Given the description of an element on the screen output the (x, y) to click on. 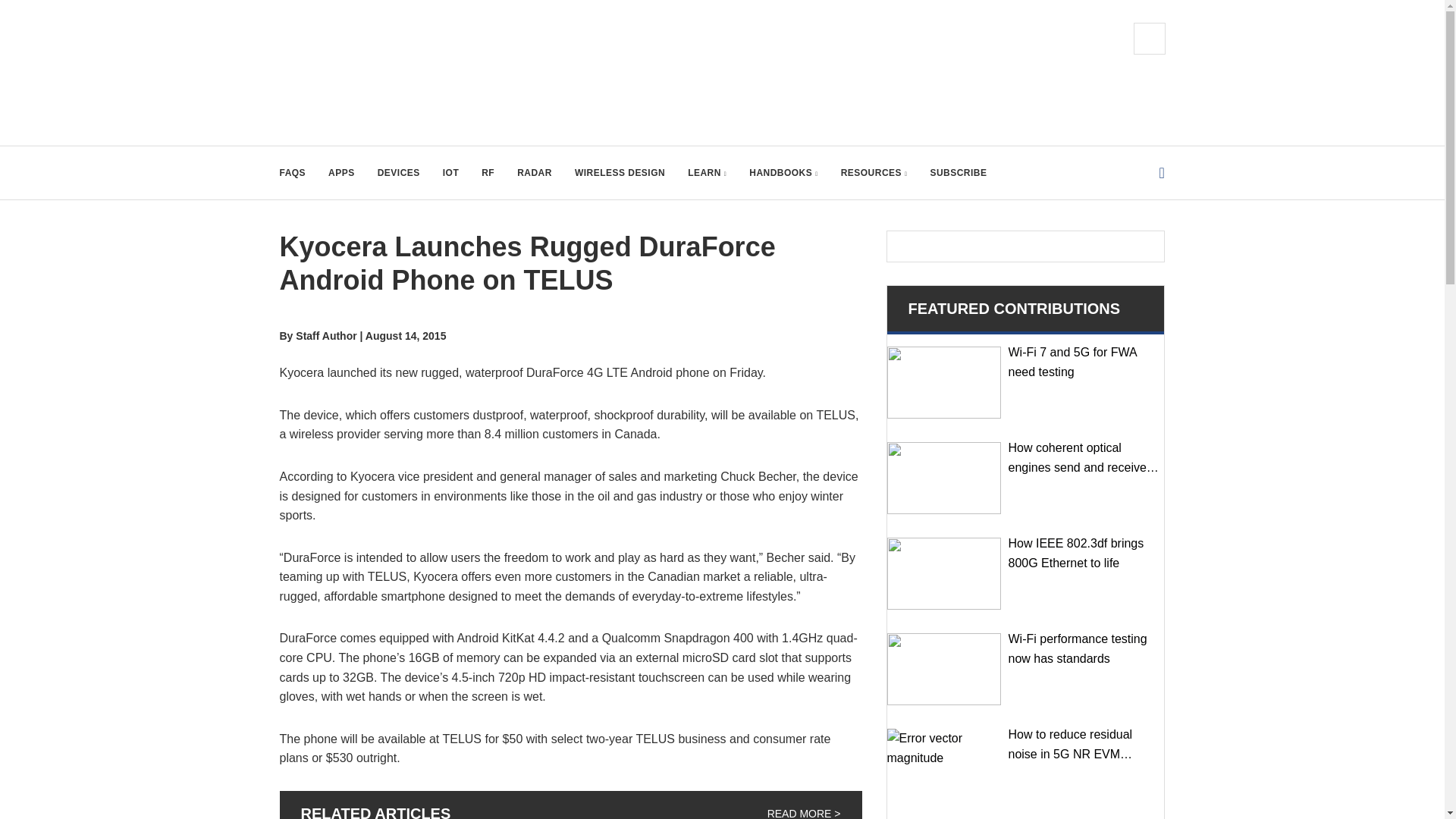
Staff Author (325, 336)
How coherent optical engines send and receive network data (943, 478)
SUBSCRIBE (958, 172)
Wi-Fi performance testing now has standards (943, 669)
5G Technology World (380, 72)
Wi-Fi 7 and 5G for FWA need testing (943, 382)
How to reduce residual noise in 5G NR EVM measurements (943, 764)
RESOURCES (874, 172)
How IEEE 802.3df brings 800G Ethernet to life (943, 573)
HANDBOOKS (782, 172)
